Given the description of an element on the screen output the (x, y) to click on. 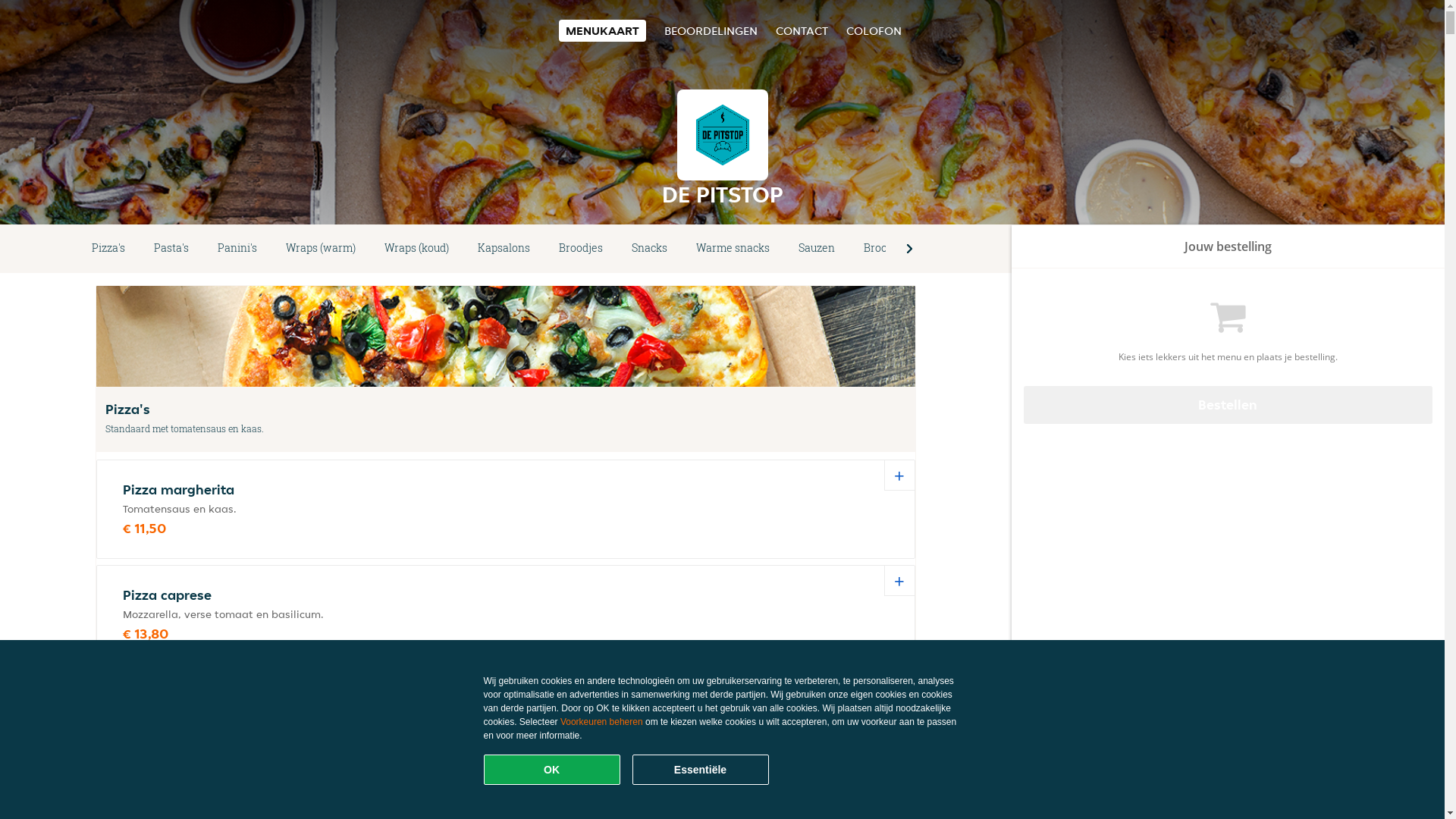
MENUKAART Element type: text (601, 30)
OK Element type: text (551, 769)
Snacks Element type: text (649, 248)
Broodjes Element type: text (580, 248)
CONTACT Element type: text (801, 30)
Sauzen Element type: text (816, 248)
BEOORDELINGEN Element type: text (710, 30)
Warme snacks Element type: text (732, 248)
Panini's Element type: text (237, 248)
COLOFON Element type: text (873, 30)
Bestellen Element type: text (1228, 404)
Kapsalons Element type: text (503, 248)
Voorkeuren beheren Element type: text (601, 721)
Wraps (koud) Element type: text (416, 248)
Wraps (warm) Element type: text (320, 248)
Pasta's Element type: text (171, 248)
Pizza's Element type: text (108, 248)
Brood Element type: text (878, 248)
